Given the description of an element on the screen output the (x, y) to click on. 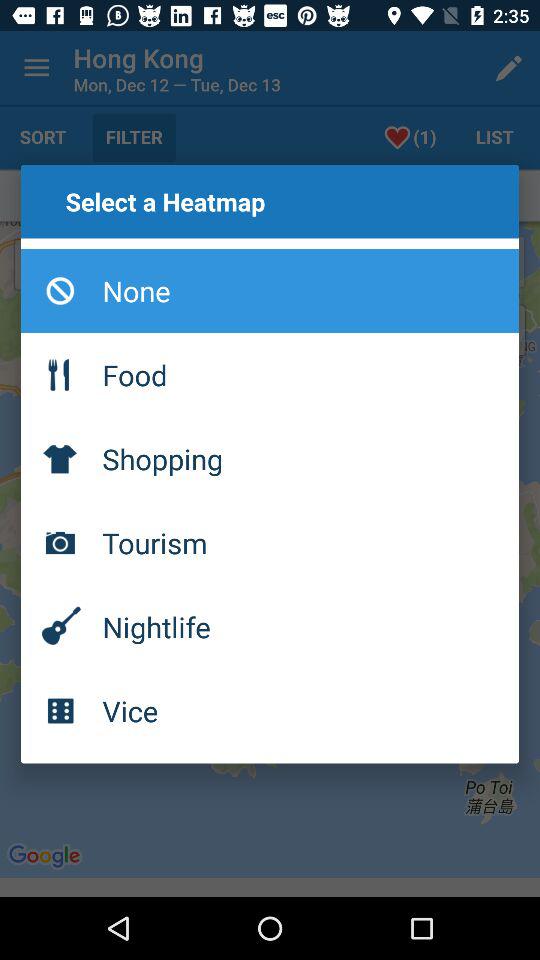
flip until none icon (270, 291)
